Given the description of an element on the screen output the (x, y) to click on. 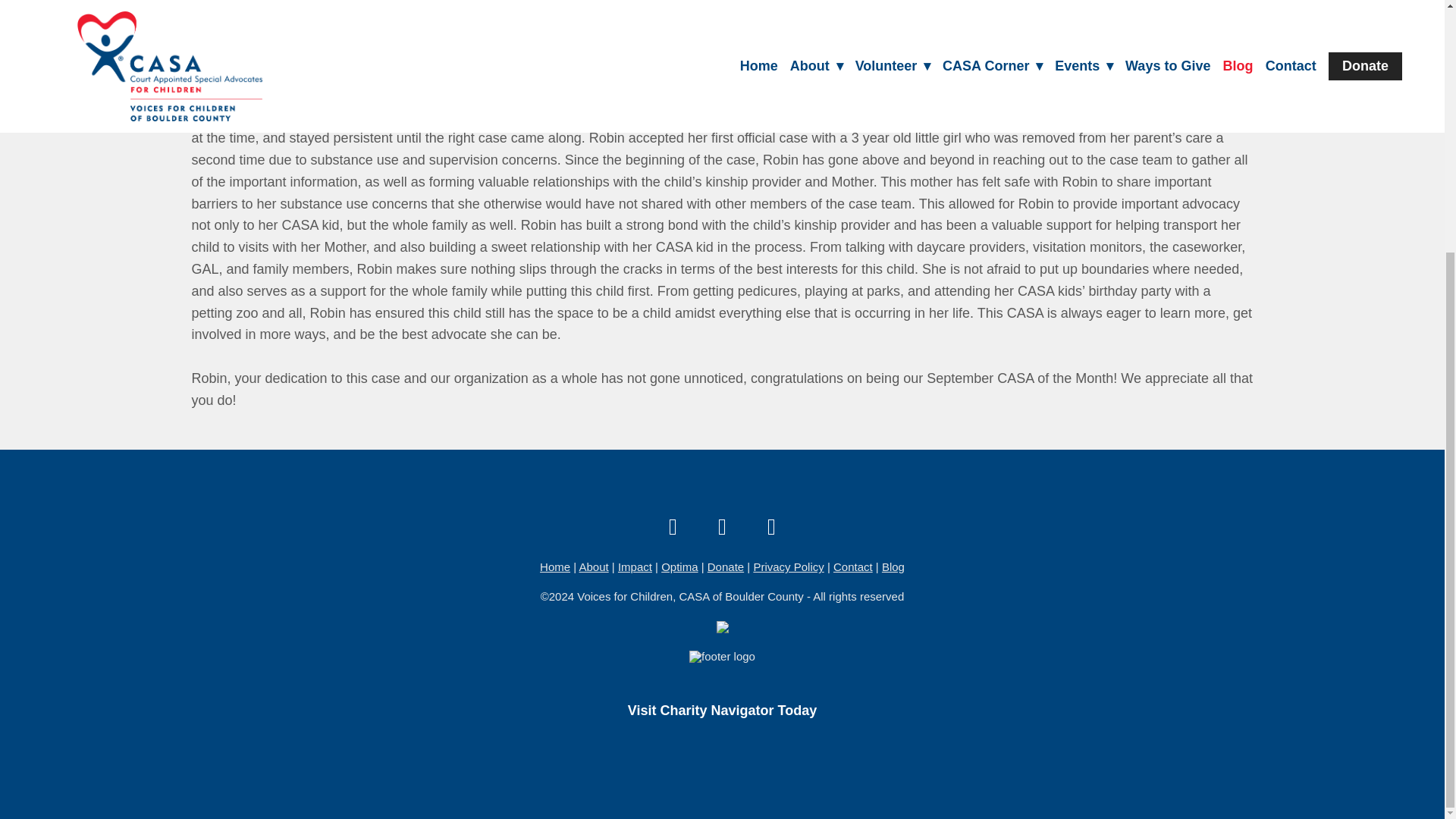
Contact (852, 566)
Optima (679, 566)
Blog (893, 566)
About (593, 566)
Impact (634, 566)
Visit Charity Navigator Today (721, 710)
Home (555, 566)
Donate (725, 566)
Robin Davidson (998, 16)
Privacy Policy (788, 566)
